Given the description of an element on the screen output the (x, y) to click on. 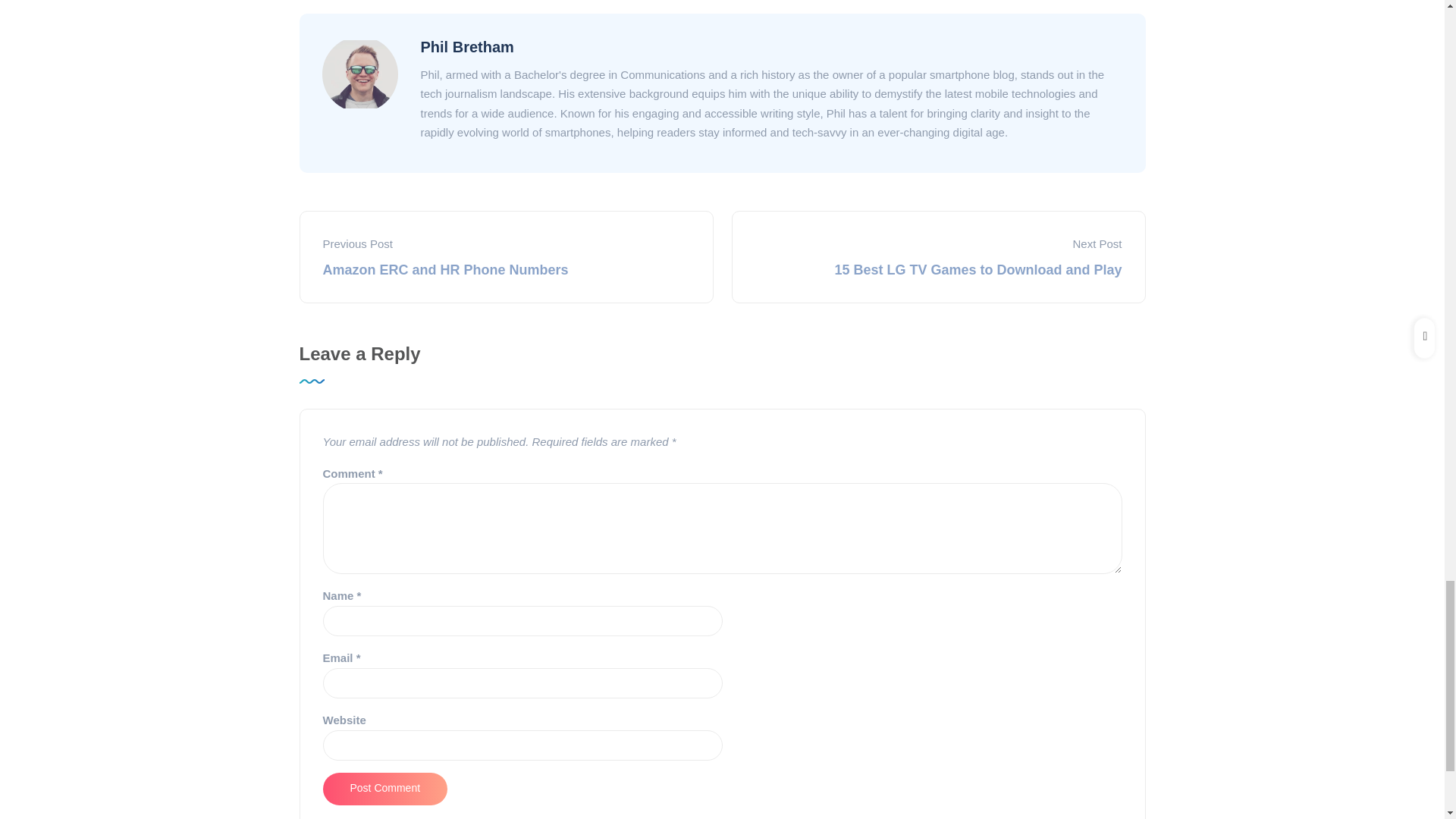
Post Comment (385, 789)
